Given the description of an element on the screen output the (x, y) to click on. 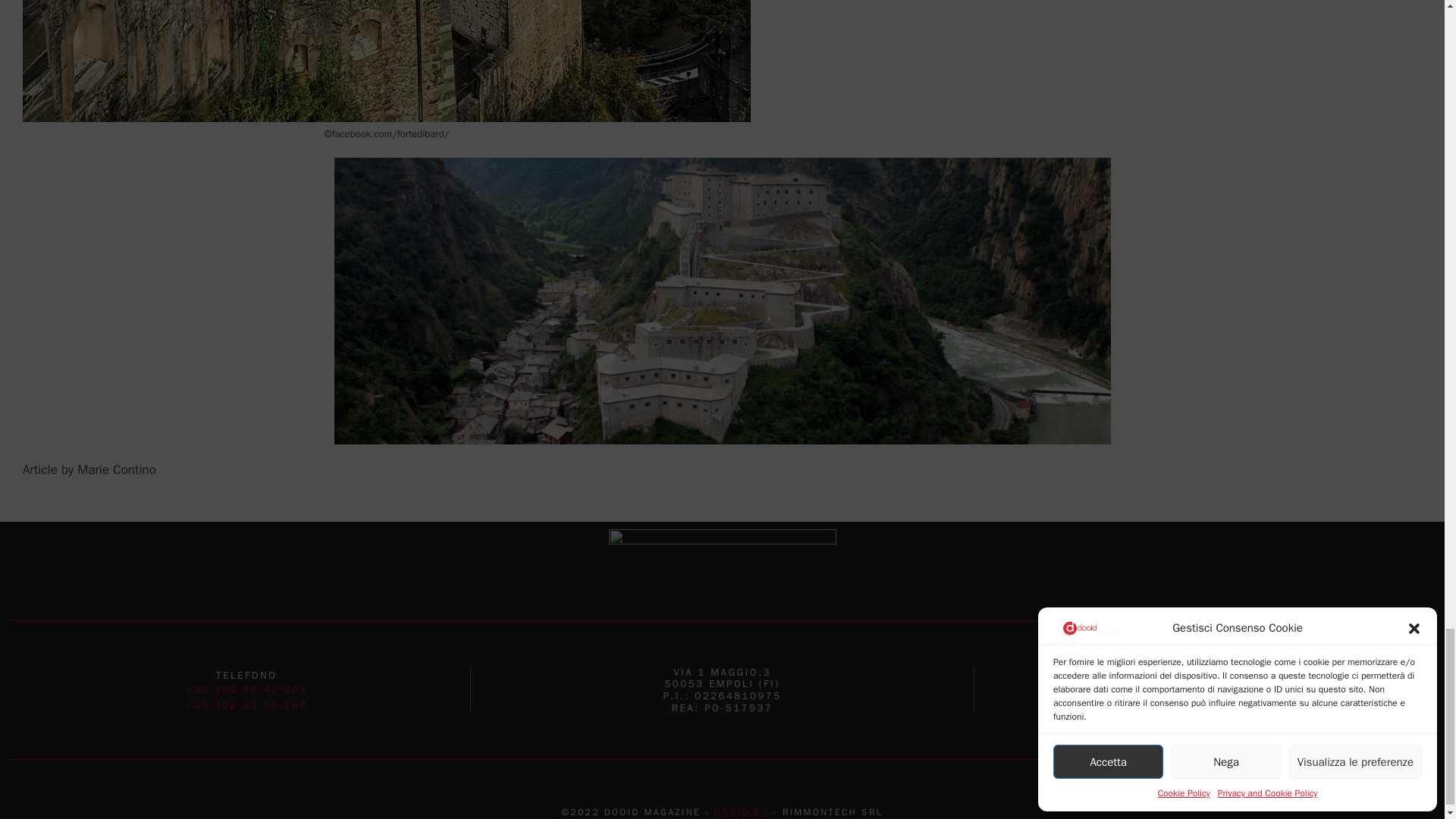
logo-dooid-magazine-new-big2 (721, 551)
